Given the description of an element on the screen output the (x, y) to click on. 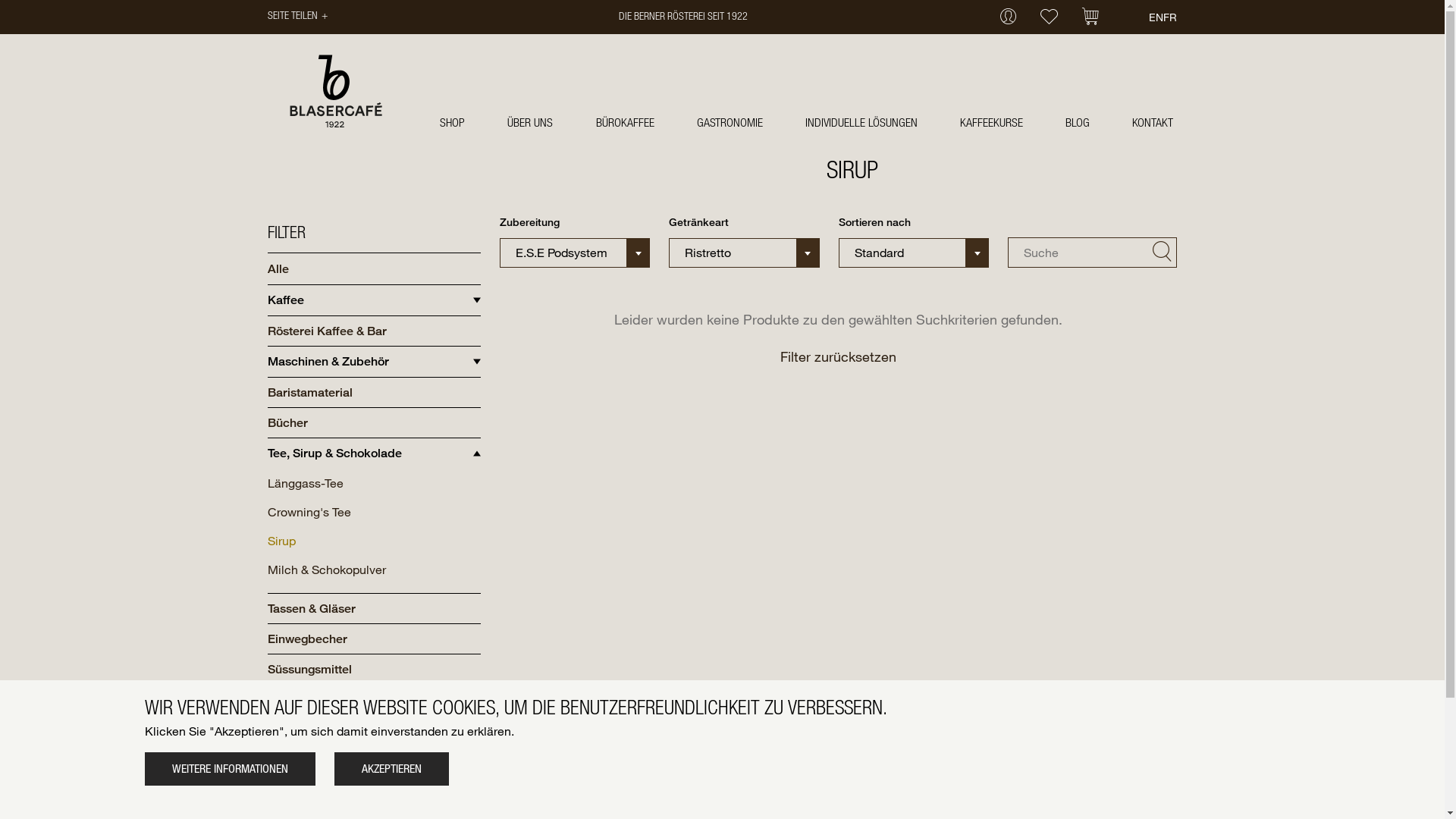
FR Element type: text (1169, 17)
KONTAKT Element type: text (1152, 122)
Alle Element type: text (277, 268)
BLOG Element type: text (1077, 122)
Direkt zum Inhalt Element type: text (0, 0)
GASTRONOMIE Element type: text (729, 122)
AKZEPTIEREN Element type: text (390, 768)
Geschenke & Gutscheine Element type: text (336, 699)
WEITERE INFORMATIONEN Element type: text (229, 768)
Warenkorb Element type: hover (1090, 17)
KAFFEEKURSE Element type: text (991, 122)
Suchen Element type: text (1161, 251)
Milch & Schokopulver Element type: text (325, 569)
Einwegbecher Element type: text (306, 638)
Baristamaterial Element type: text (308, 392)
EN Element type: text (1155, 17)
SHOP Element type: text (451, 122)
Crowning's Tee Element type: text (308, 511)
